Given the description of an element on the screen output the (x, y) to click on. 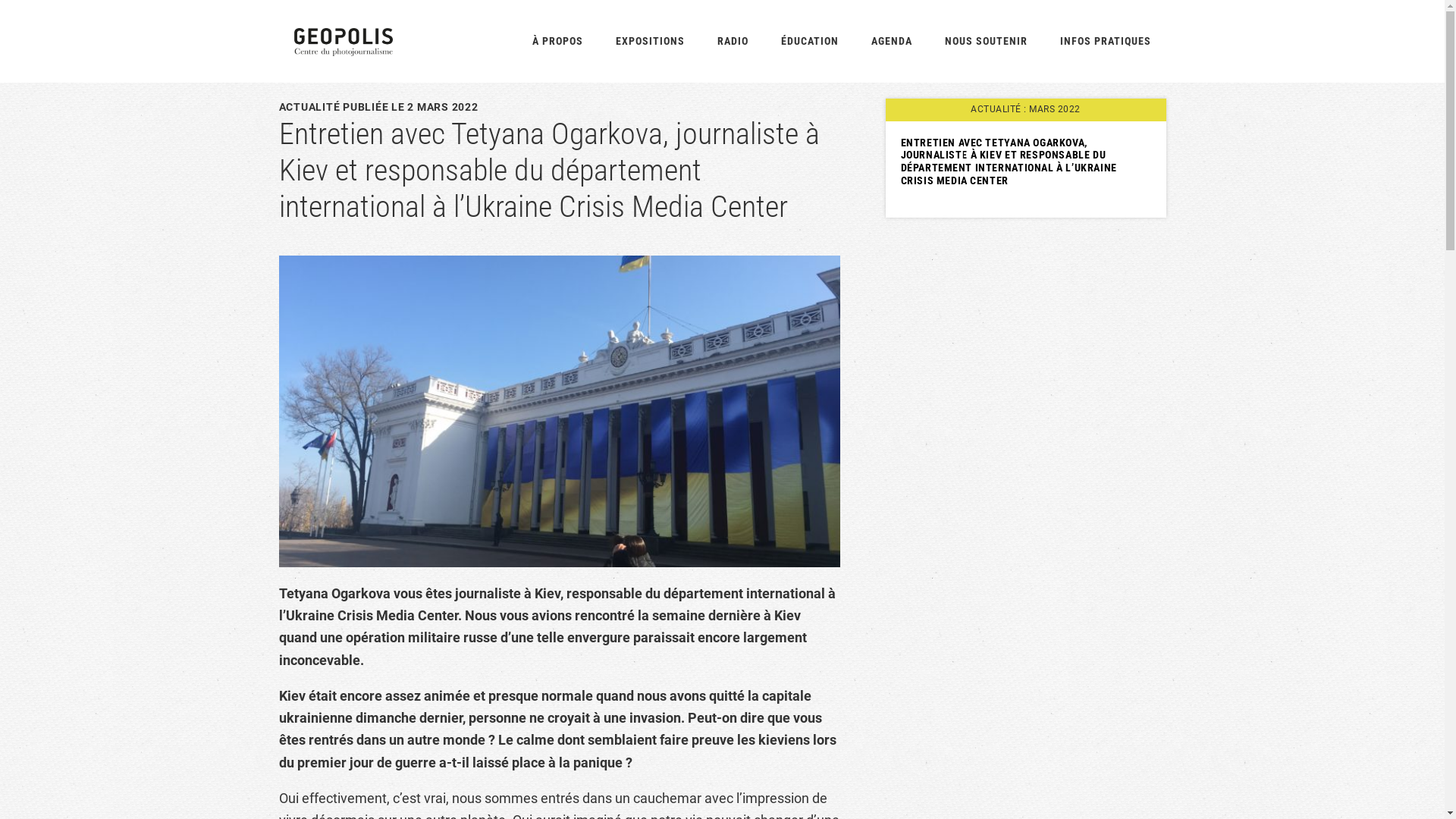
INFOS PRATIQUES Element type: text (1105, 40)
NOUS SOUTENIR Element type: text (985, 40)
RADIO Element type: text (732, 40)
AGENDA Element type: text (890, 40)
EXPOSITIONS Element type: text (649, 40)
